Given the description of an element on the screen output the (x, y) to click on. 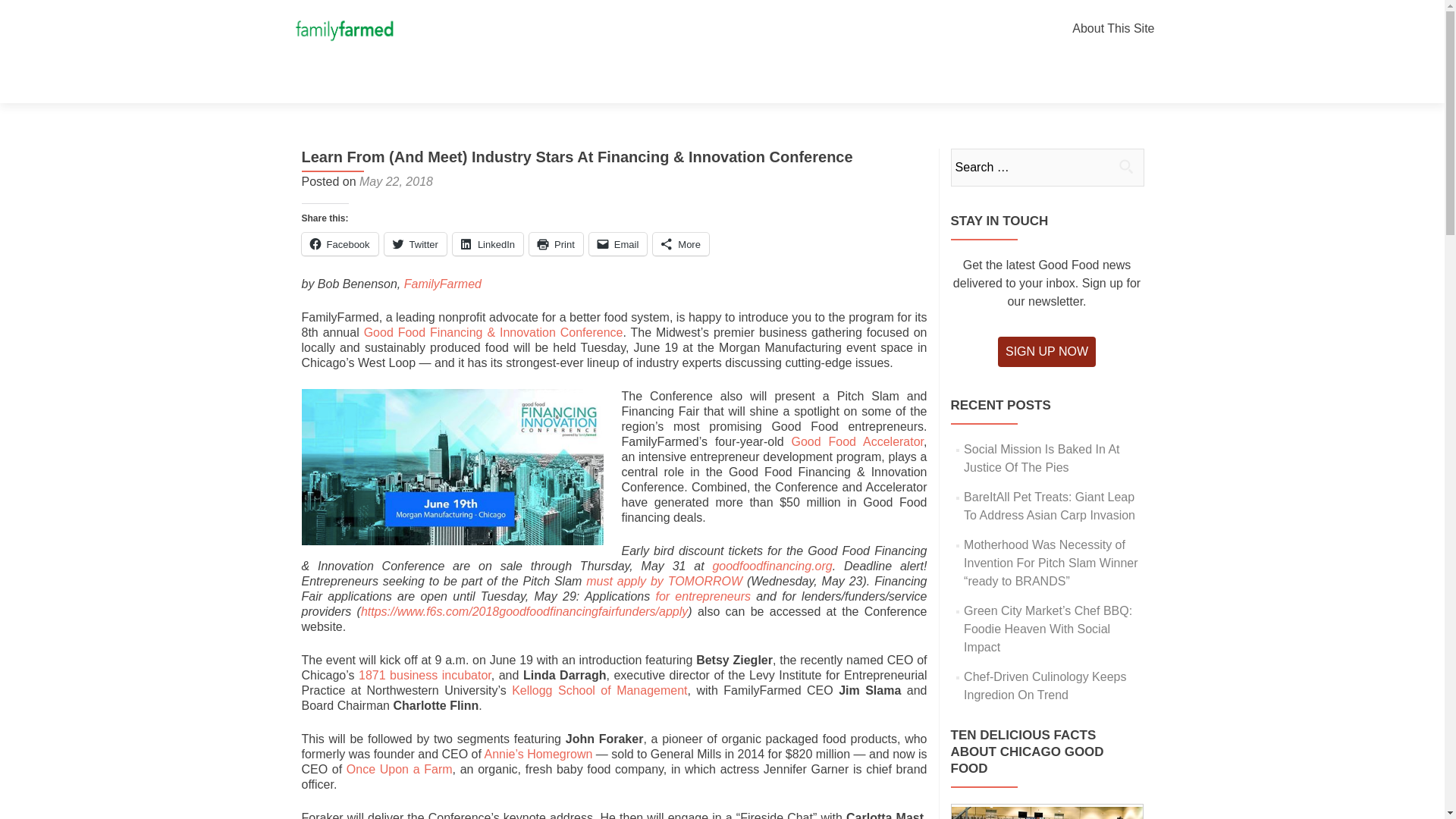
Search (1125, 165)
1871 business incubator (425, 675)
FamilyFarmed (442, 283)
for entrepreneurs (703, 595)
Good Food Accelerator (858, 440)
Print (556, 243)
goodfoodfinancing.org (771, 565)
Click to share on Twitter (415, 243)
must apply by TOMORROW (664, 581)
Click to share on Facebook (339, 243)
Kellogg School of Management (599, 689)
More (680, 243)
Twitter (415, 243)
Click to email a link to a friend (618, 243)
Click to share on LinkedIn (487, 243)
